Given the description of an element on the screen output the (x, y) to click on. 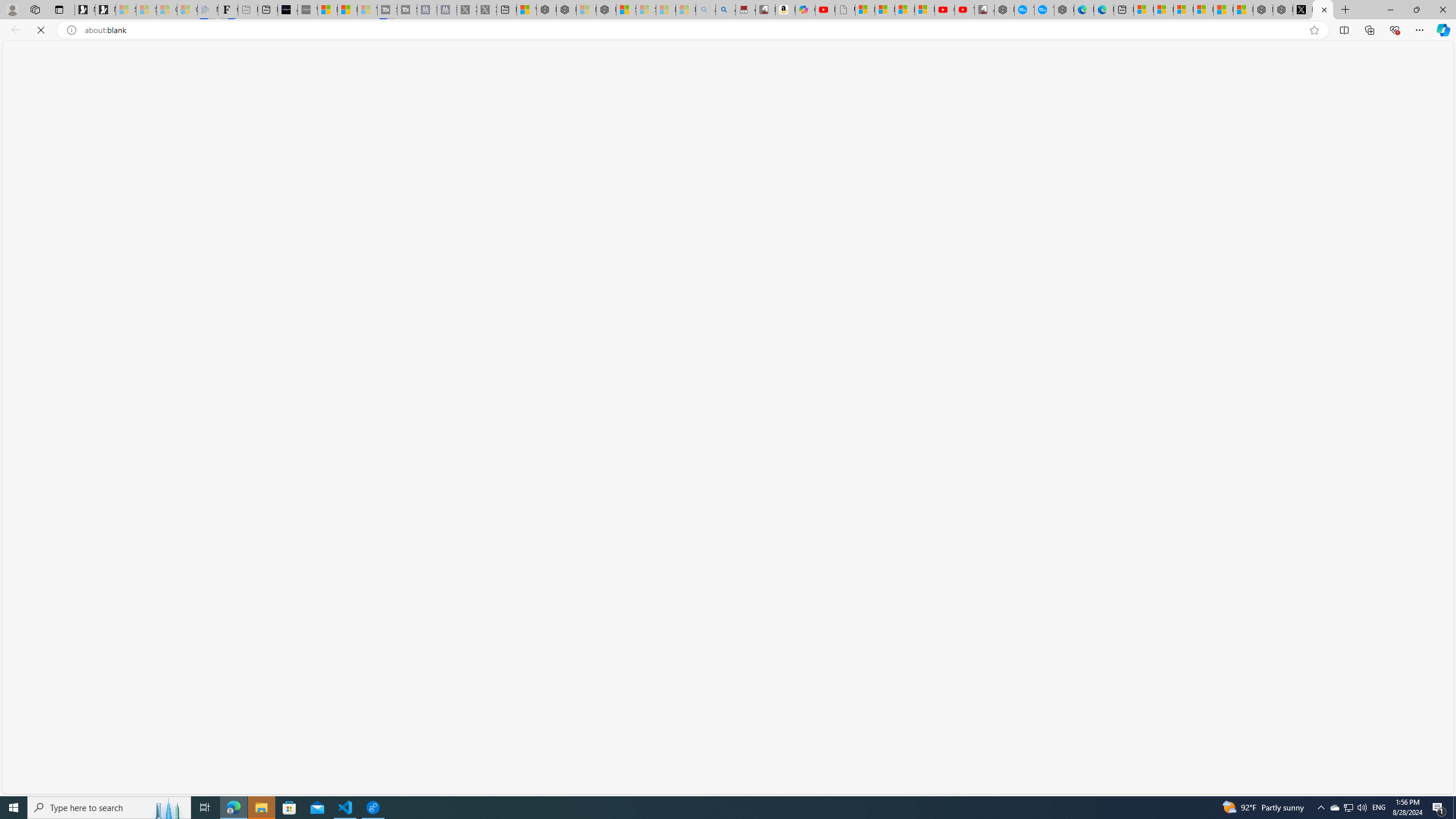
AI Voice Changer for PC and Mac - Voice.ai (287, 9)
Microsoft account | Microsoft Account Privacy Settings (1162, 9)
